Given the description of an element on the screen output the (x, y) to click on. 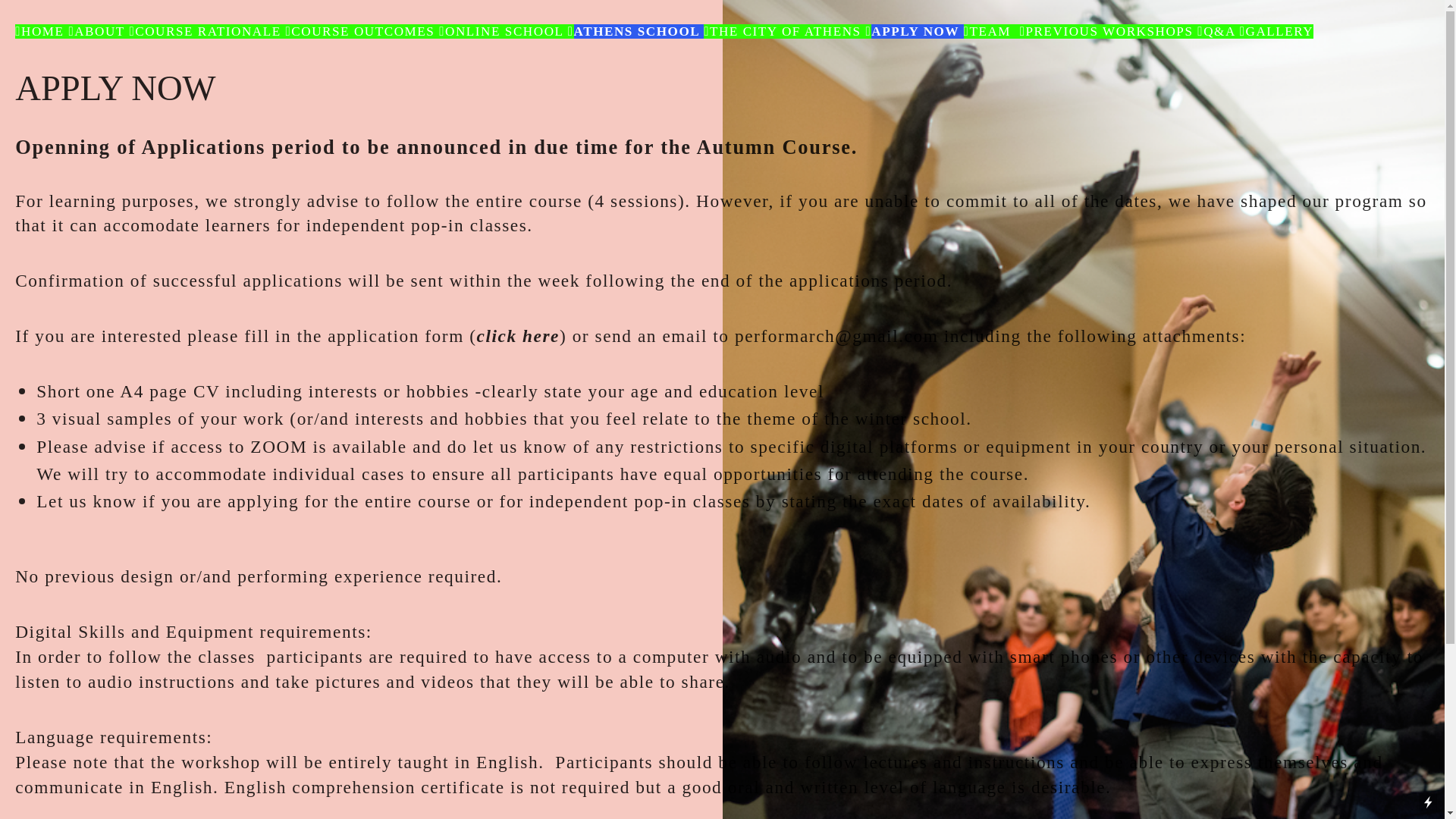
ATHENS SCHOOL (636, 32)
click here (518, 336)
